Given the description of an element on the screen output the (x, y) to click on. 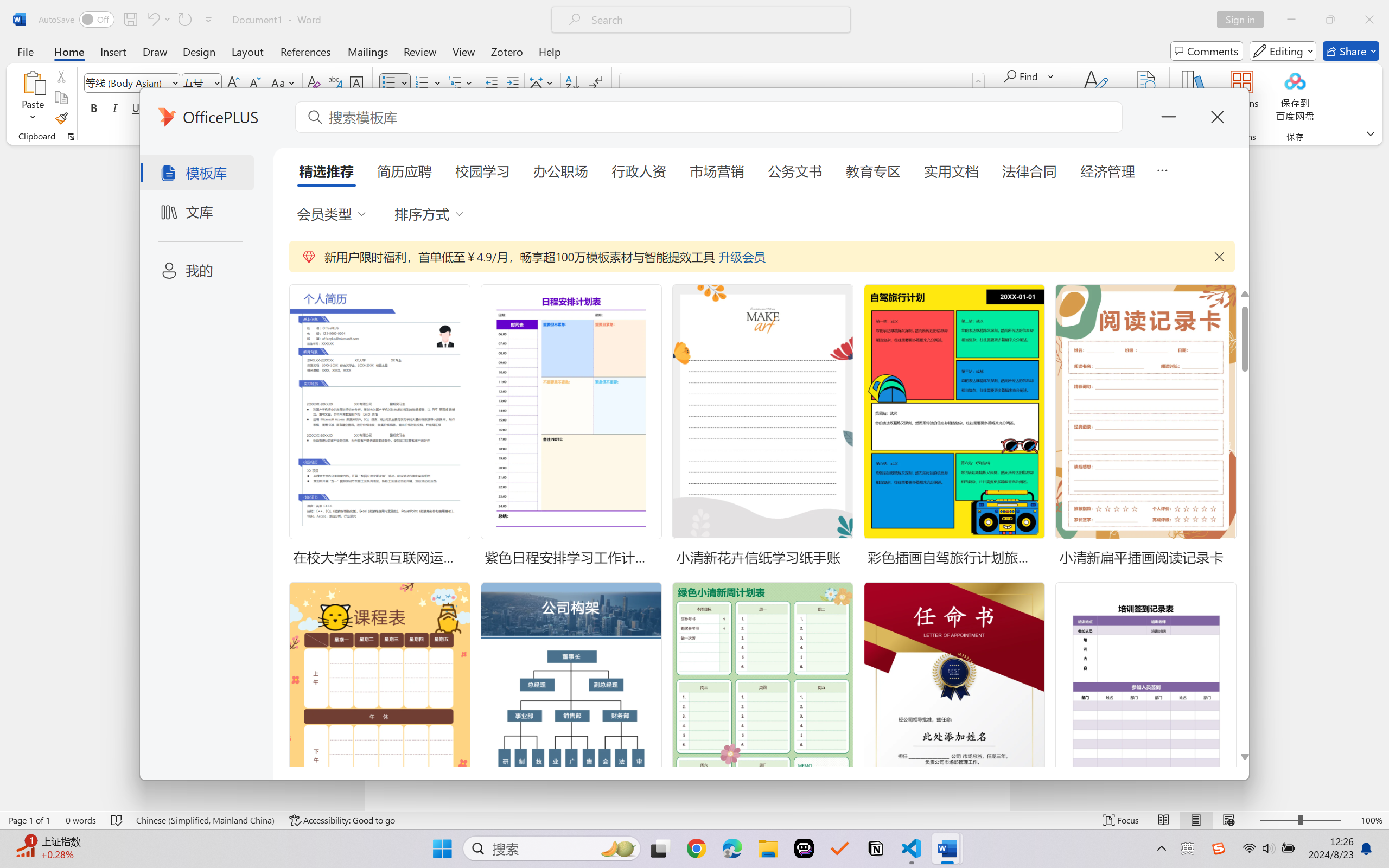
5 more tabs (1161, 169)
Undo Bullet Default (152, 19)
